Given the description of an element on the screen output the (x, y) to click on. 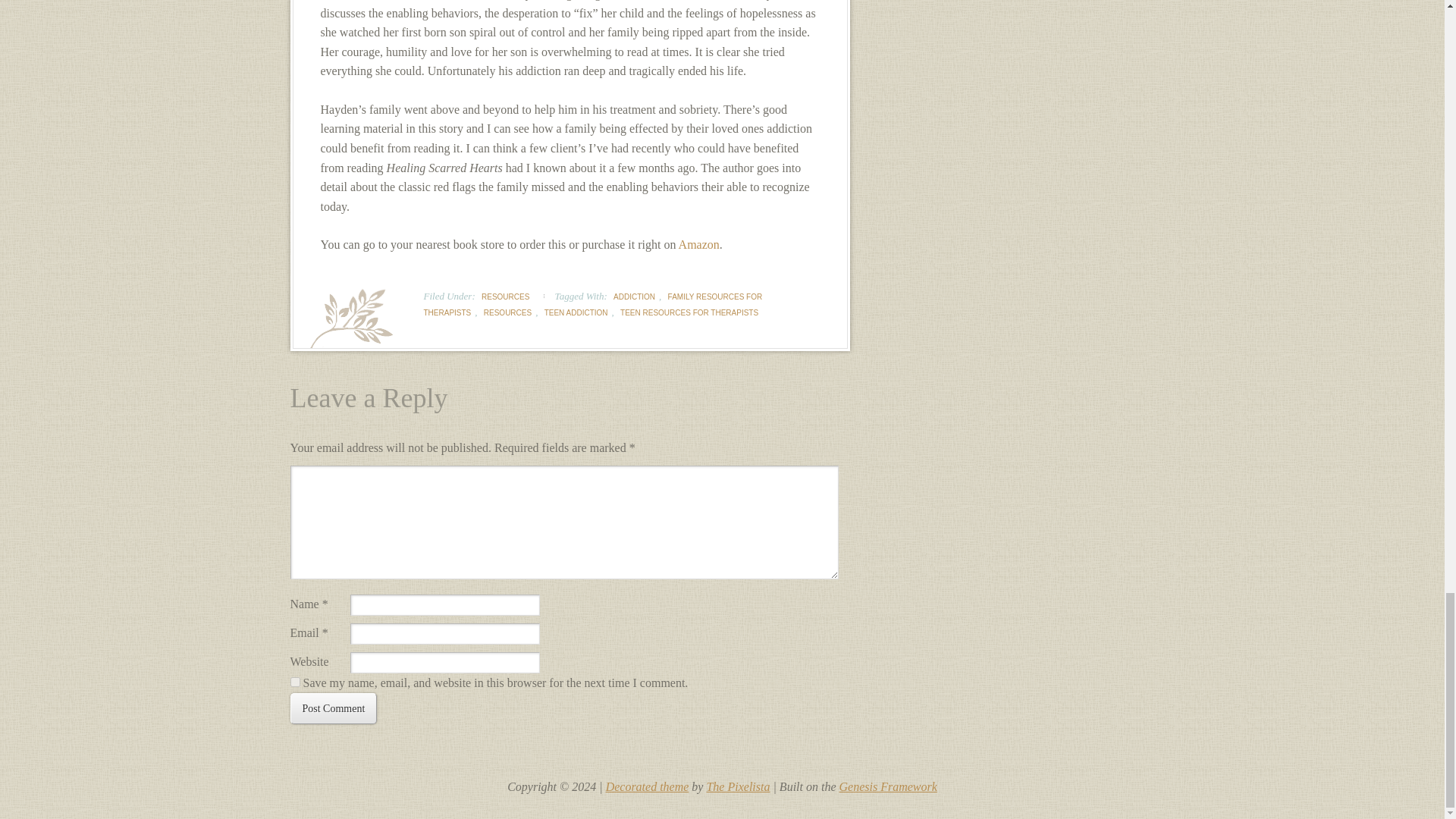
Amazon (698, 244)
Post Comment (333, 707)
The Pixelista (738, 786)
ADDICTION (634, 296)
RESOURCES (507, 312)
FAMILY RESOURCES FOR THERAPISTS (592, 304)
Genesis Framework (888, 786)
TEEN ADDICTION (575, 312)
TEEN RESOURCES FOR THERAPISTS (688, 312)
yes (294, 682)
